Given the description of an element on the screen output the (x, y) to click on. 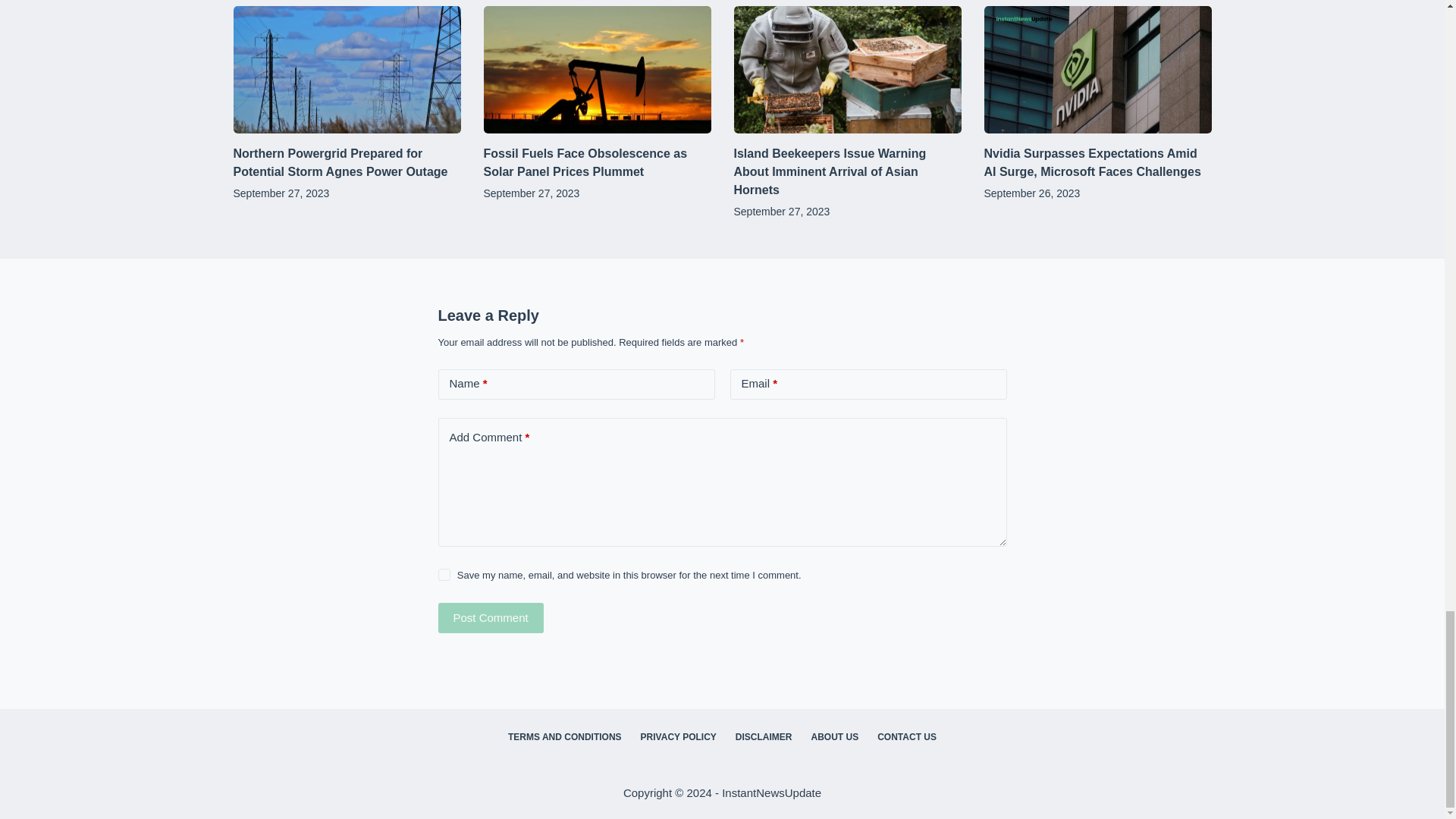
yes (443, 574)
